Given the description of an element on the screen output the (x, y) to click on. 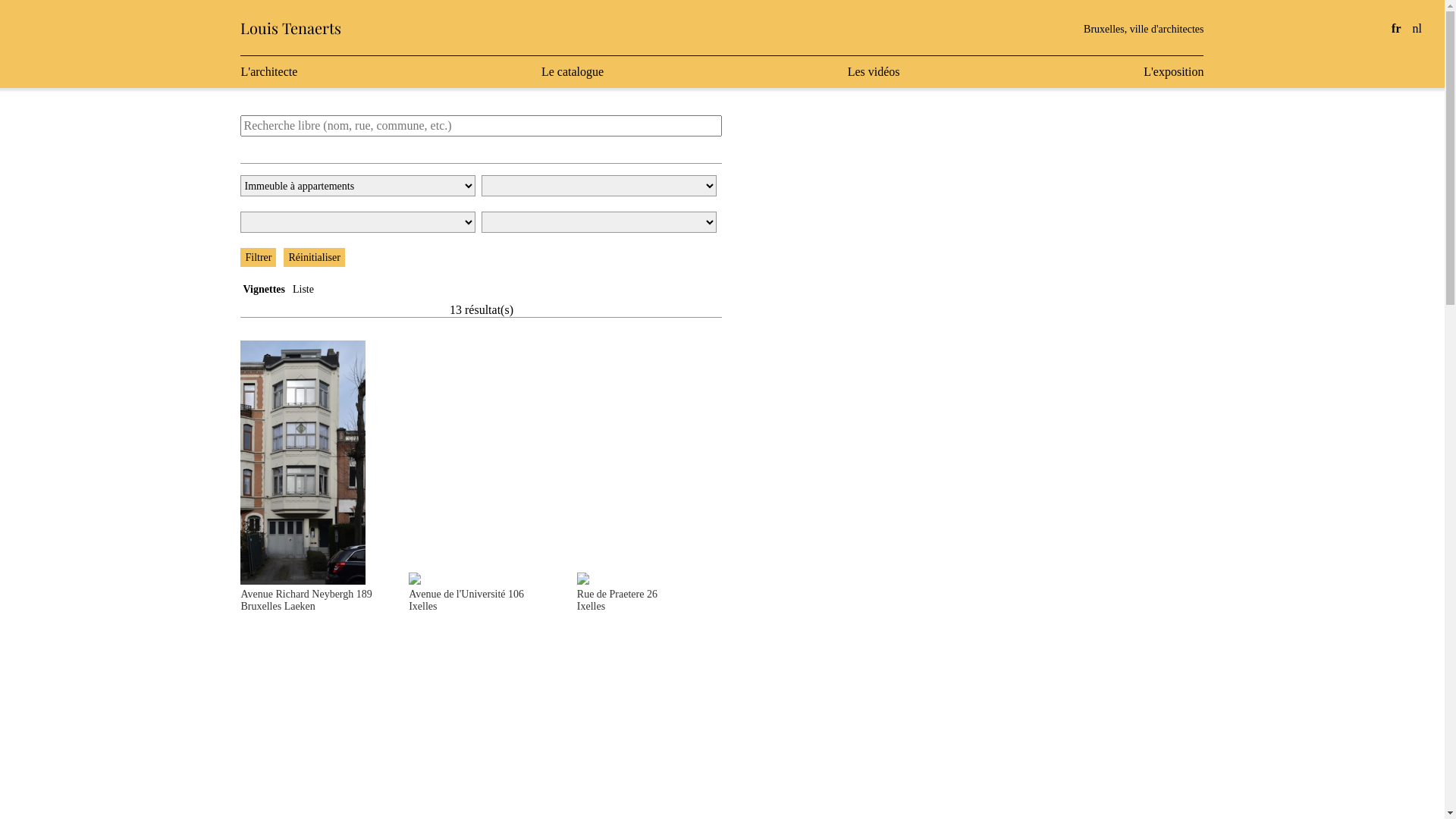
fr Element type: text (1395, 27)
Vignettes Element type: text (262, 288)
Liste Element type: text (301, 288)
Filtrer Element type: text (258, 256)
nl Element type: text (1416, 27)
L'exposition Element type: text (1173, 71)
Louis Tenaerts Element type: text (290, 27)
Bruxelles, ville d'architectes Element type: text (1143, 28)
L'architecte Element type: text (268, 71)
Le catalogue Element type: text (572, 71)
